Given the description of an element on the screen output the (x, y) to click on. 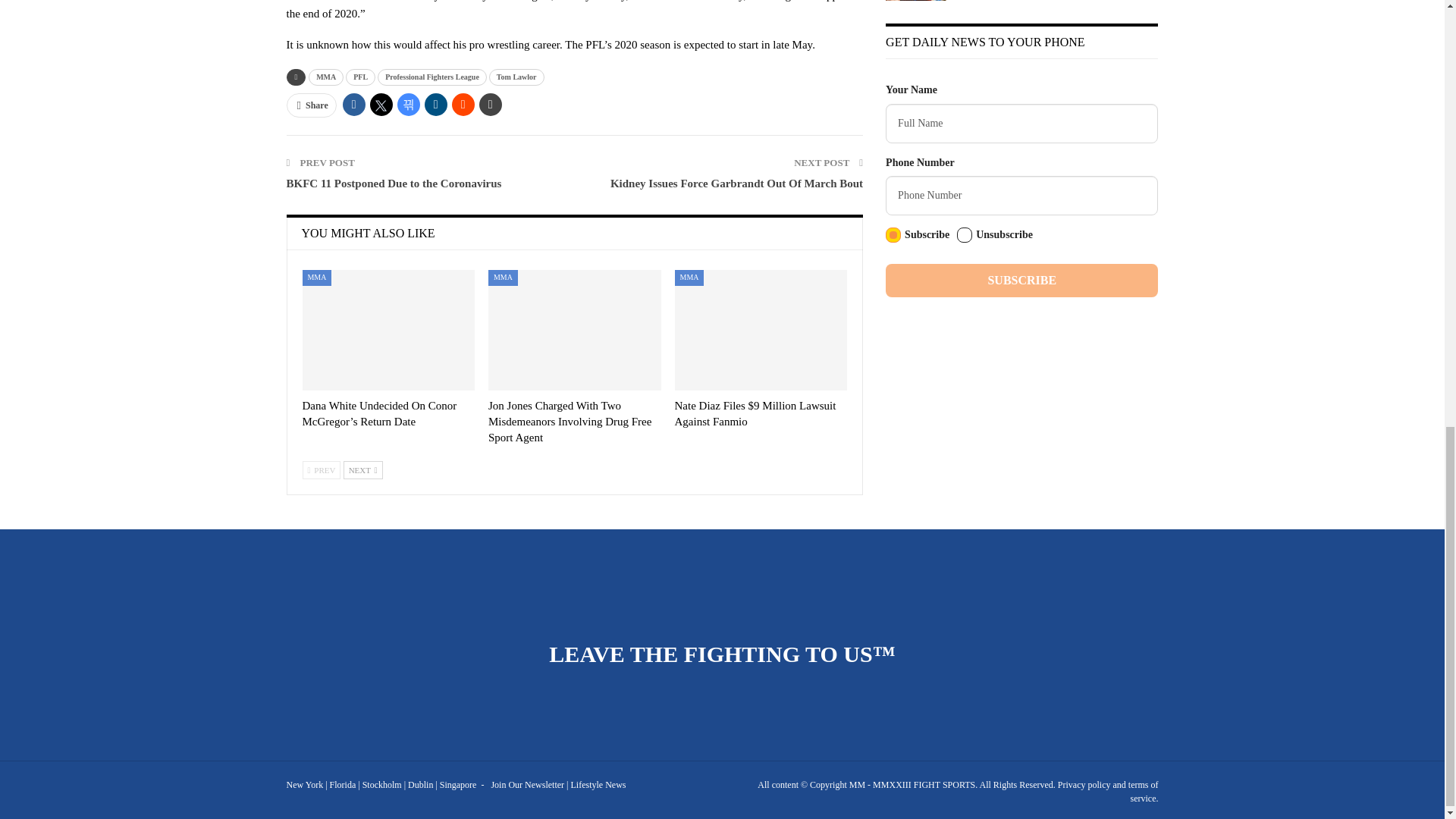
subscribe (893, 234)
unsubscribe (964, 234)
